Given the description of an element on the screen output the (x, y) to click on. 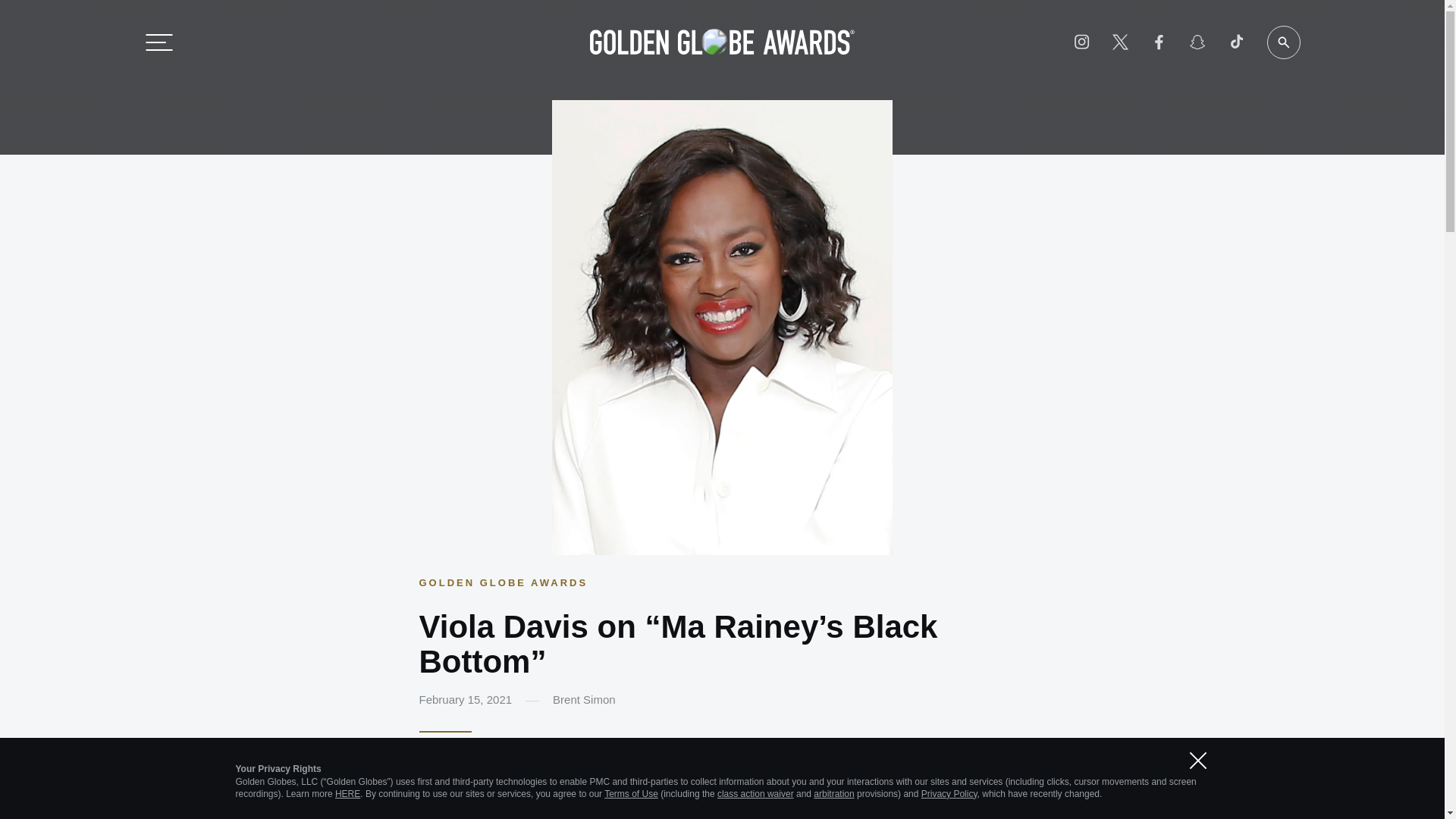
Viola Davis (457, 760)
How To Get Away With Murder (720, 792)
